Given the description of an element on the screen output the (x, y) to click on. 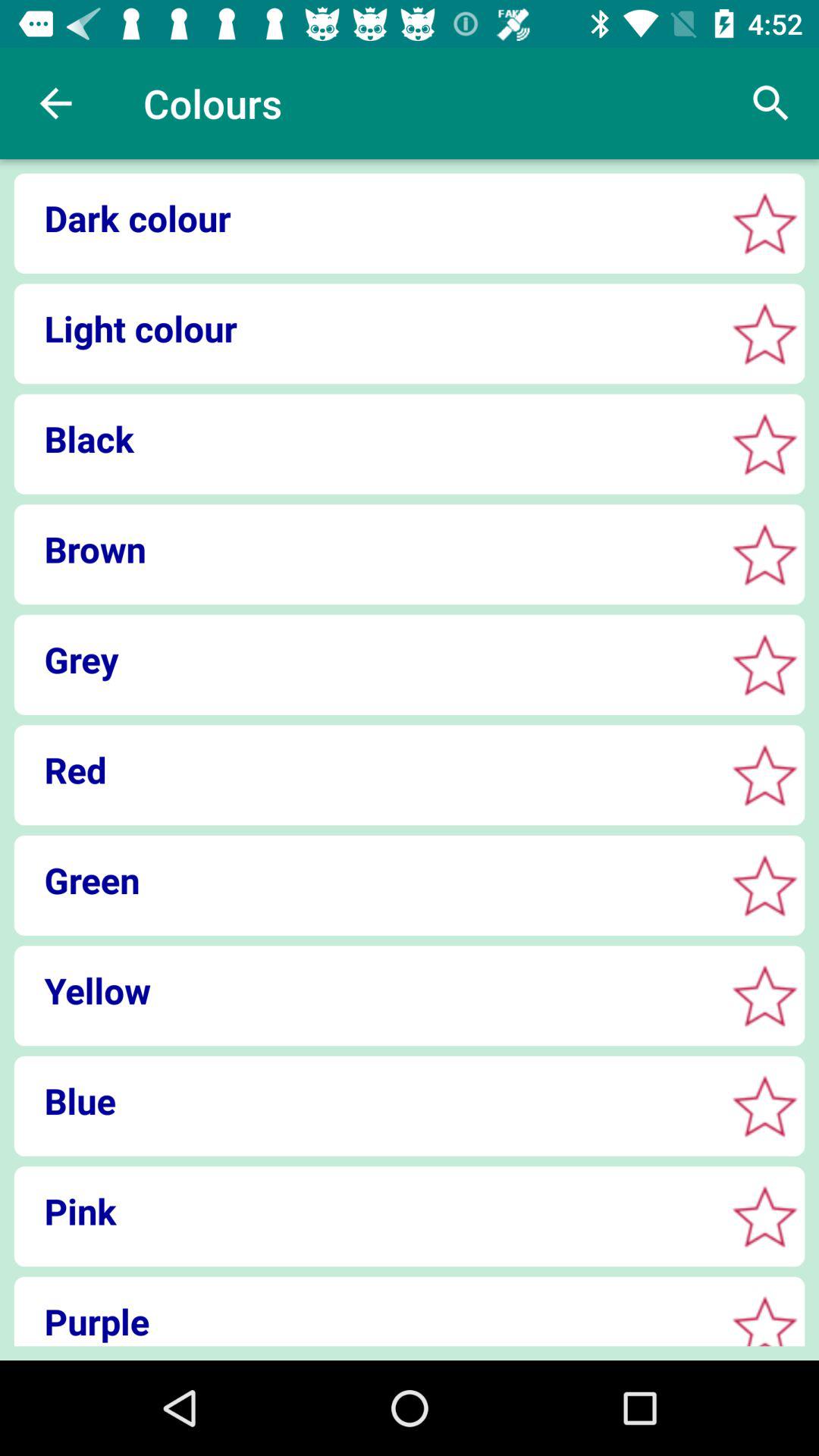
add to favorites (764, 995)
